Given the description of an element on the screen output the (x, y) to click on. 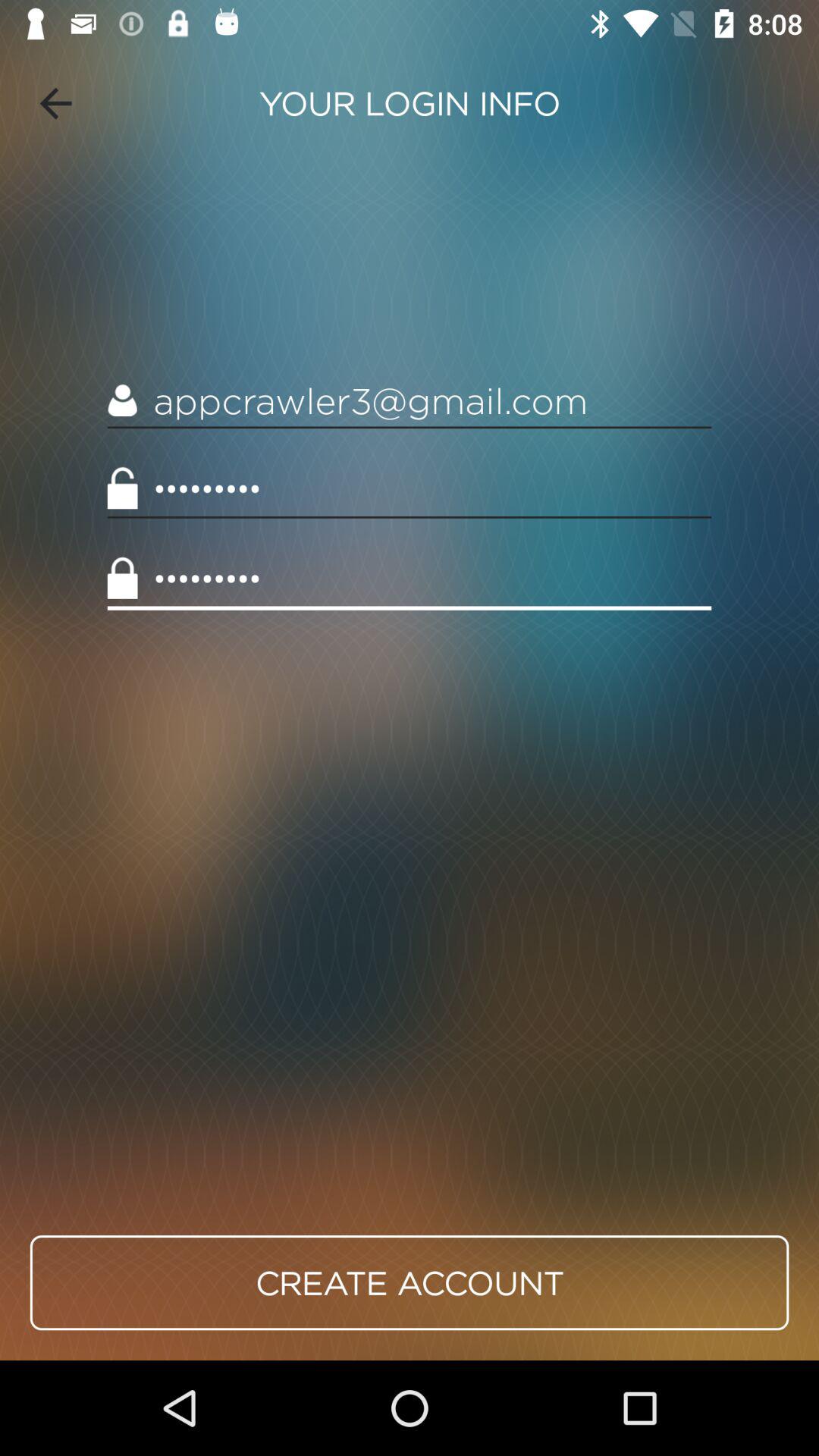
turn on the appcrawler3@gmail.com icon (409, 401)
